Given the description of an element on the screen output the (x, y) to click on. 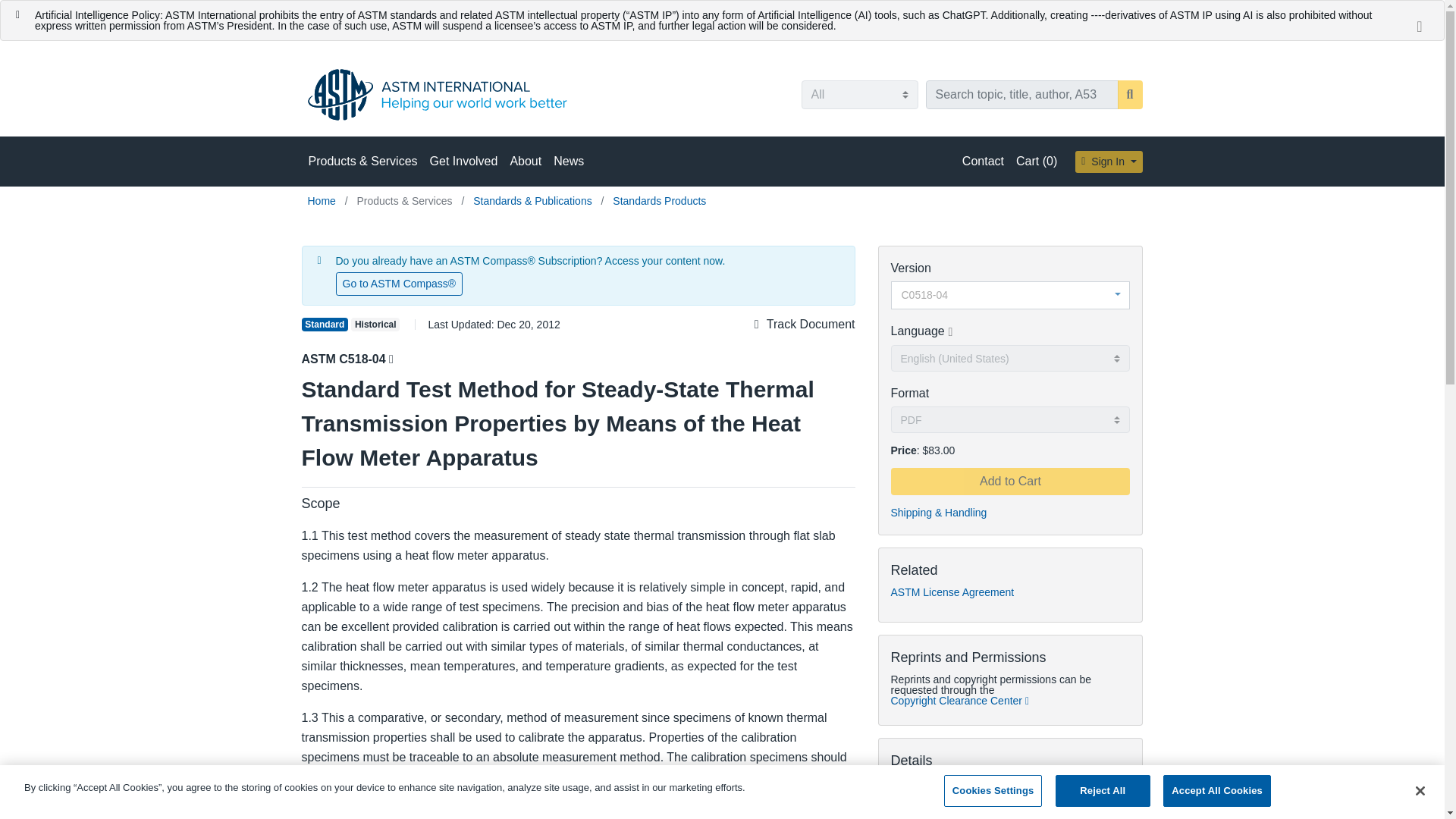
Go to Home Page (323, 200)
Add to Cart (1009, 481)
All (858, 94)
Search (1130, 94)
